Given the description of an element on the screen output the (x, y) to click on. 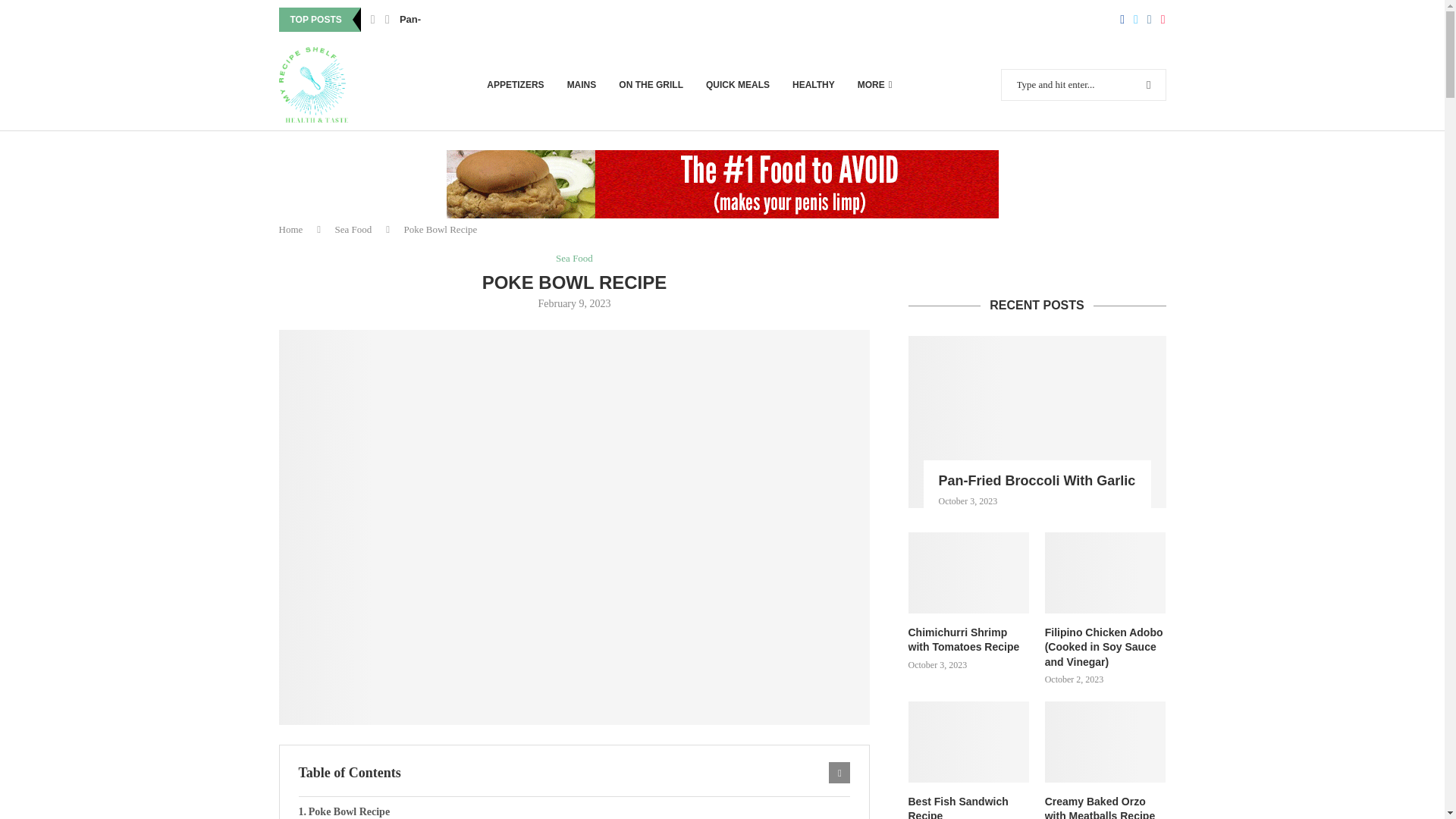
Pan-Fried Broccoli With Garlic (469, 19)
QUICK MEALS (738, 85)
HEALTHY (813, 85)
ON THE GRILL (650, 85)
Poke Bowl Recipe (574, 807)
Search (1117, 6)
APPETIZERS (514, 85)
